Given the description of an element on the screen output the (x, y) to click on. 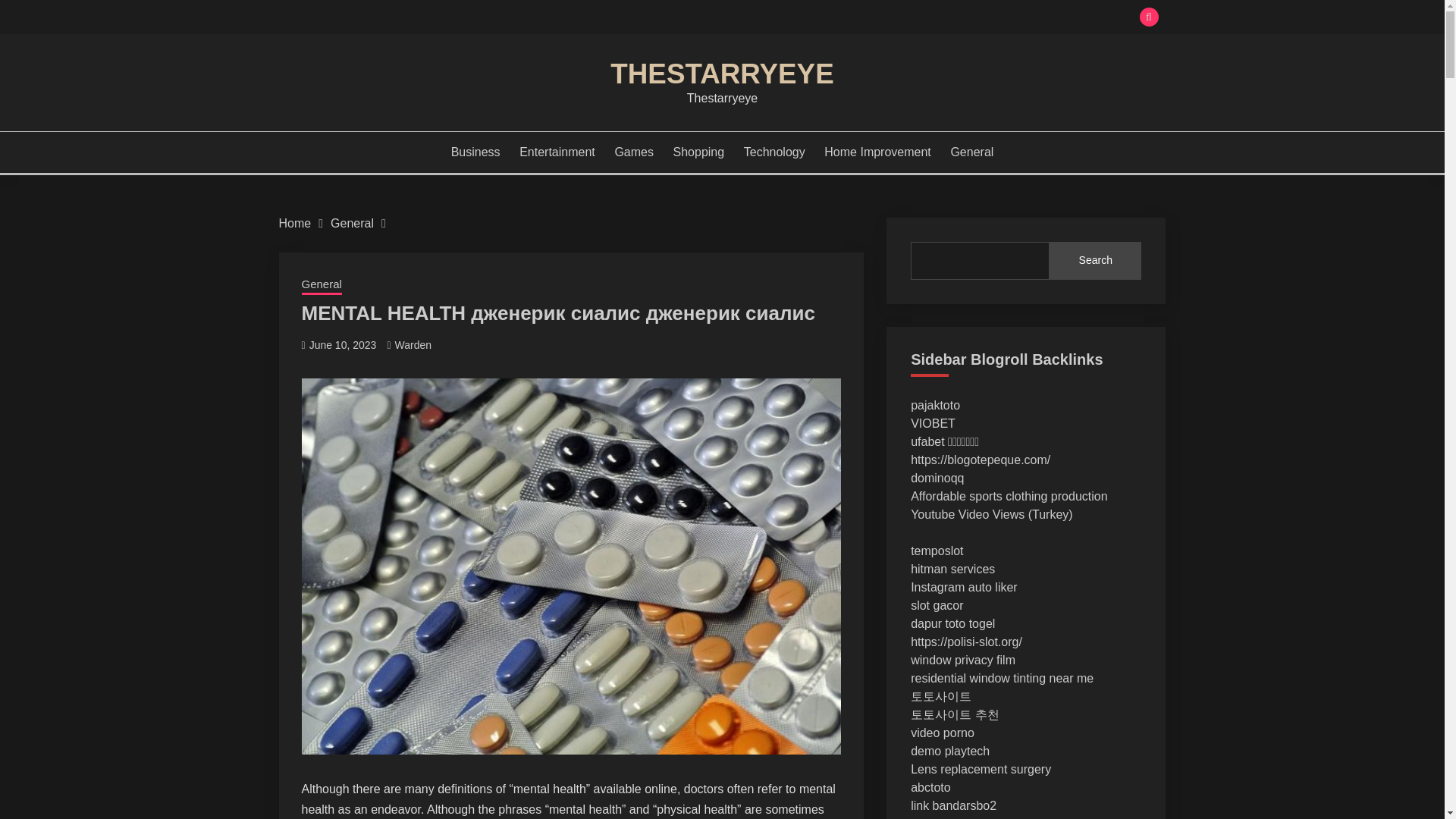
General (321, 285)
June 10, 2023 (342, 345)
THESTARRYEYE (721, 73)
General (352, 223)
Business (475, 152)
Games (633, 152)
Search (1095, 260)
Technology (774, 152)
Search (832, 18)
VIOBET (933, 422)
